Given the description of an element on the screen output the (x, y) to click on. 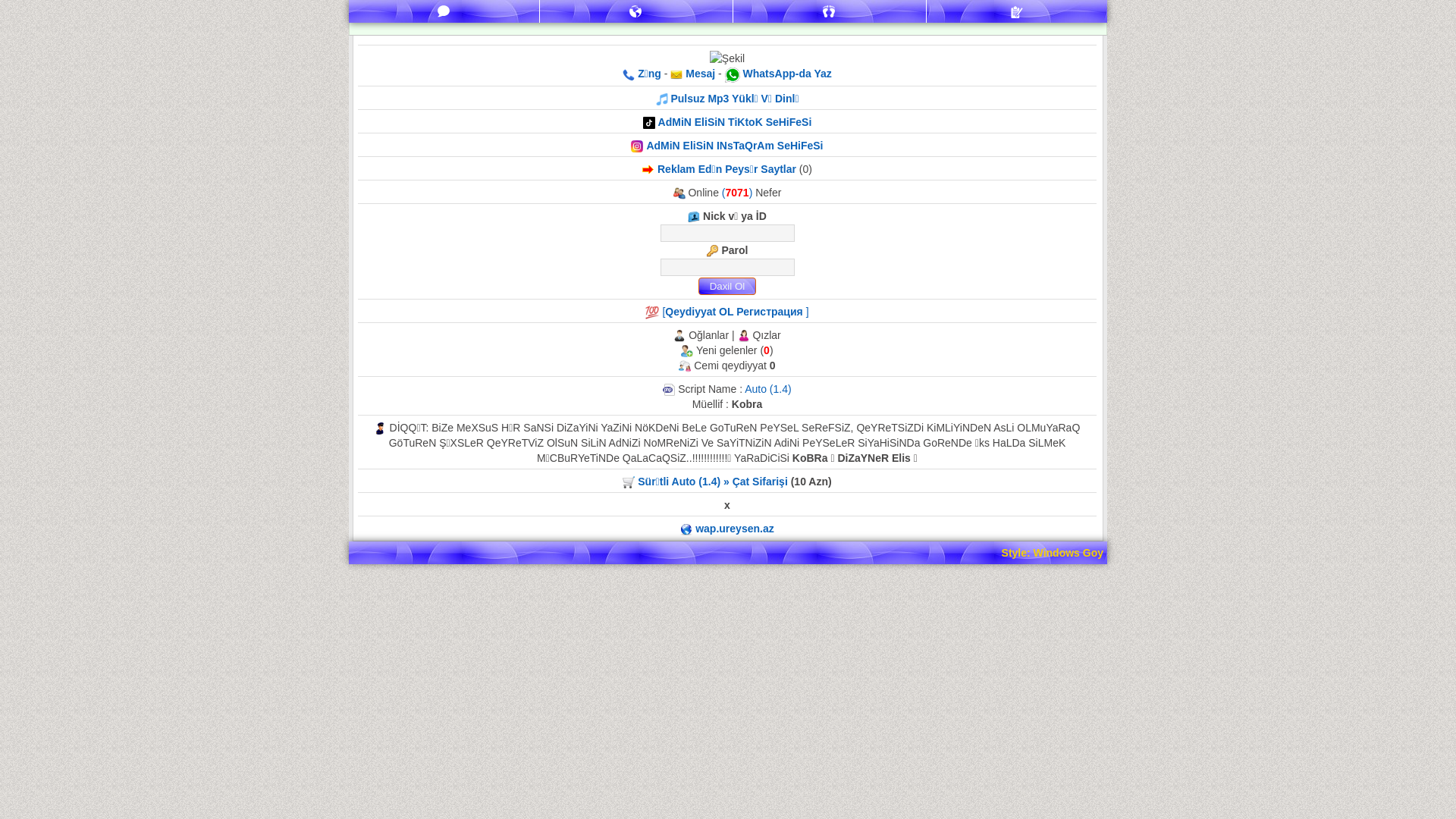
Mesajlar Element type: hover (443, 11)
(7071) Element type: text (738, 192)
Auto (1.4) Element type: text (767, 388)
AdMiN EliSiN TiKtoK SeHiFeSi Element type: text (735, 122)
Parol Element type: hover (726, 267)
wap.ureysen.az Element type: text (734, 528)
Daxil Ol Element type: text (726, 285)
Mektublar Element type: hover (635, 11)
WhatsApp-da Yaz Element type: text (787, 73)
AdMiN EliSiN INsTaQrAm SeHiFeSi Element type: text (734, 145)
nick Element type: hover (726, 232)
Qonaqlar Element type: hover (829, 11)
Style: Windows Goy Element type: text (1052, 552)
Mesaj Element type: text (698, 73)
